Given the description of an element on the screen output the (x, y) to click on. 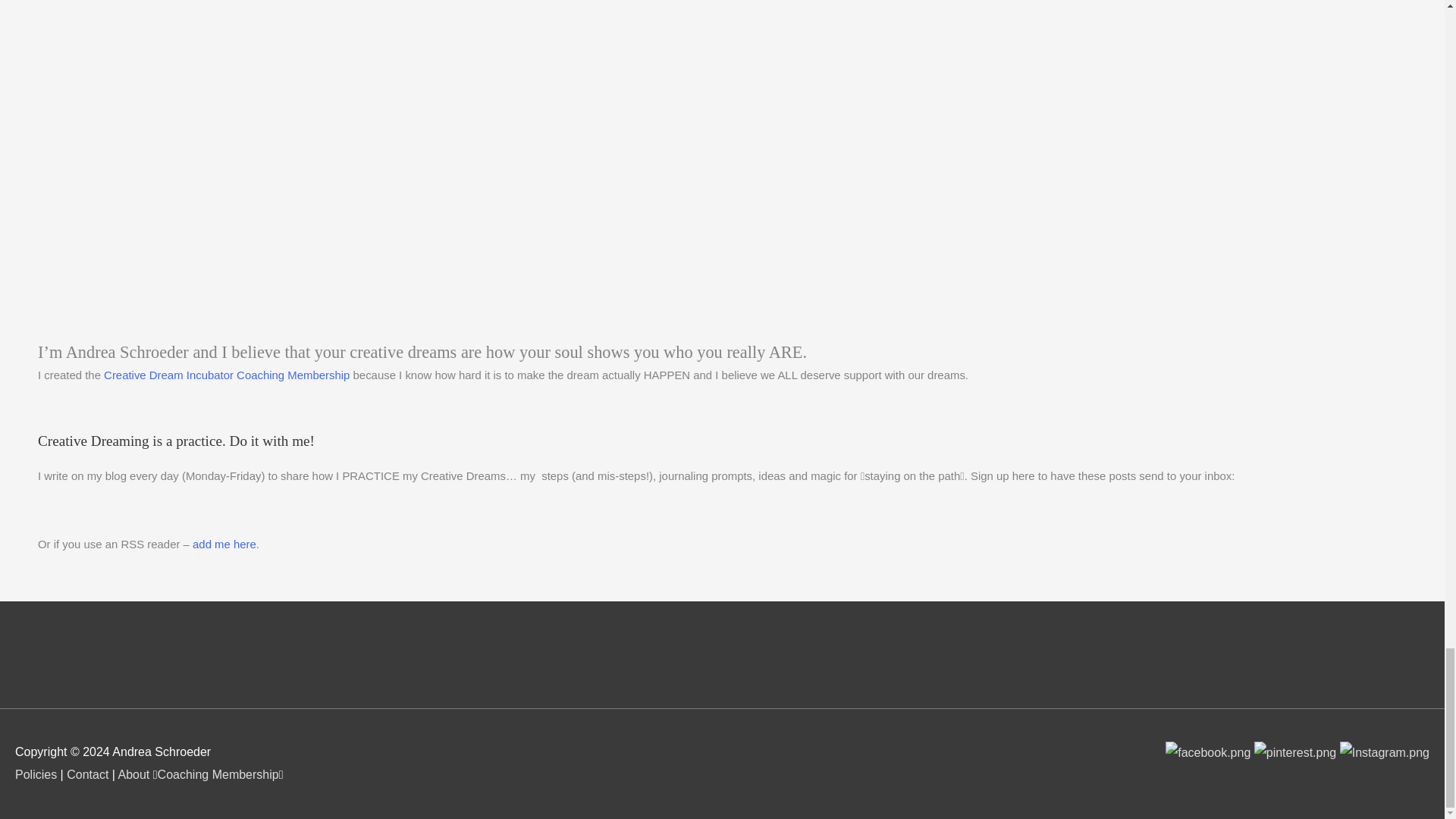
Coaching Membership (218, 774)
Policies (35, 774)
About (133, 774)
Creative Dream Incubator Coaching Membership (226, 374)
Contact (86, 774)
add me here (224, 543)
